Given the description of an element on the screen output the (x, y) to click on. 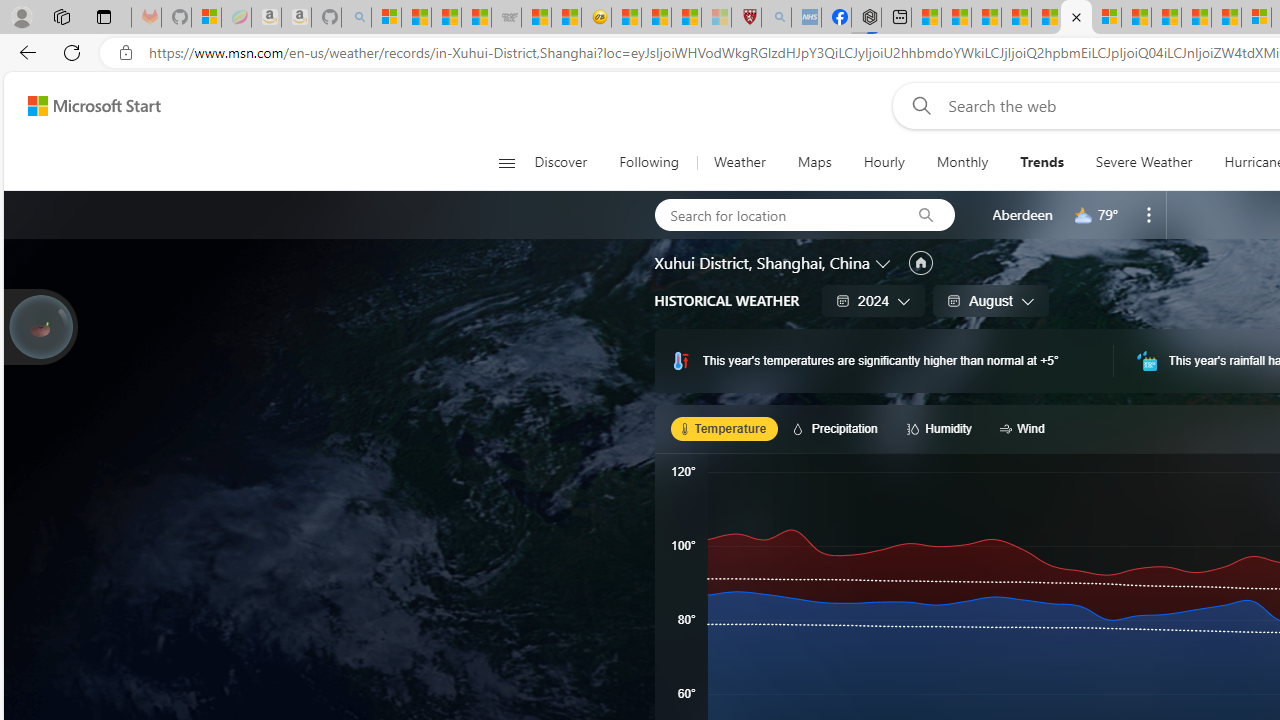
Temperature (724, 428)
Search for location (776, 214)
Monthly (962, 162)
Join us in planting real trees to help our planet! (40, 327)
Maps (813, 162)
Robert H. Shmerling, MD - Harvard Health (746, 17)
